Given the description of an element on the screen output the (x, y) to click on. 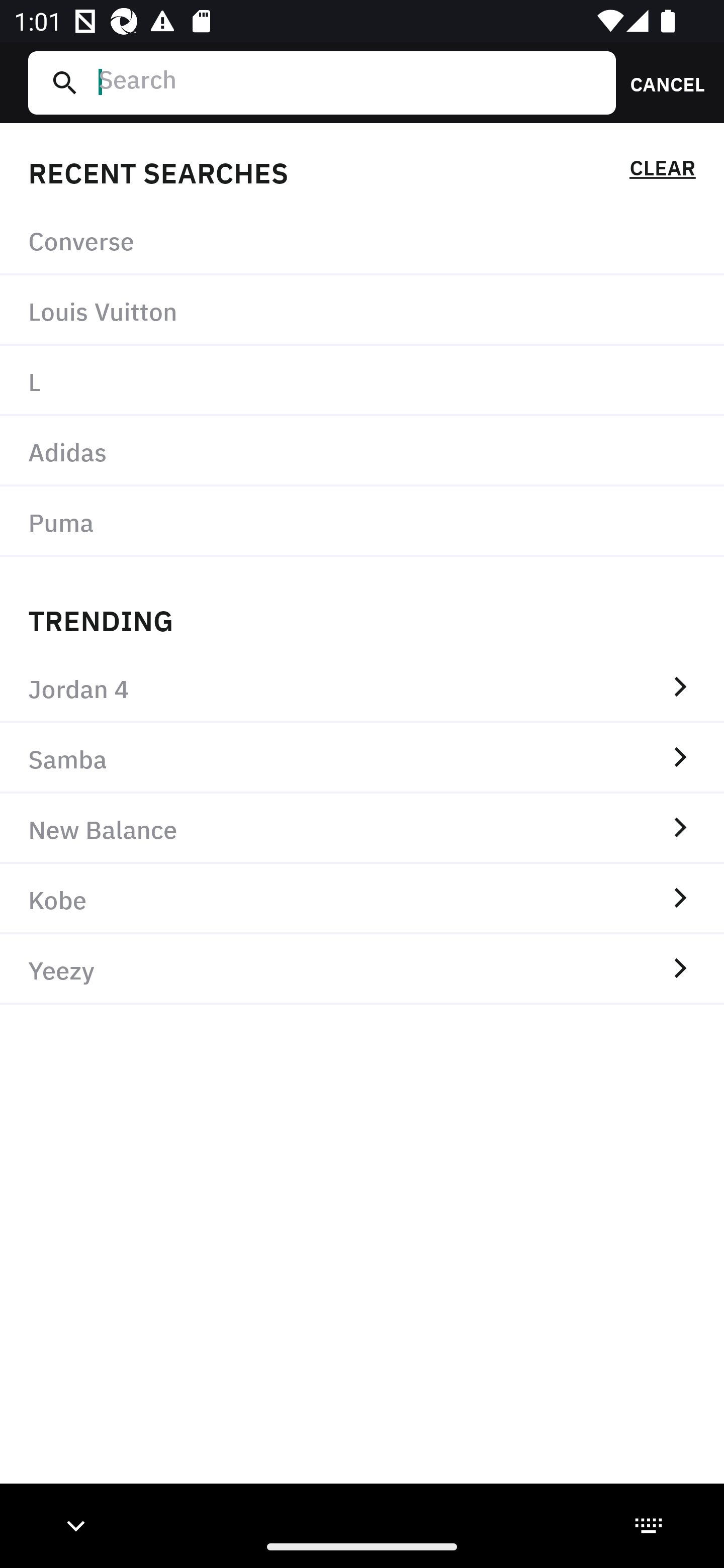
CANCEL (660, 82)
Search (349, 82)
CLEAR (662, 170)
Converse (362, 240)
Louis Vuitton (362, 310)
L (362, 380)
Adidas (362, 450)
Puma (362, 521)
Jordan 4  (362, 687)
Samba  (362, 757)
New Balance  (362, 828)
Kobe  (362, 898)
Yeezy  (362, 969)
